Given the description of an element on the screen output the (x, y) to click on. 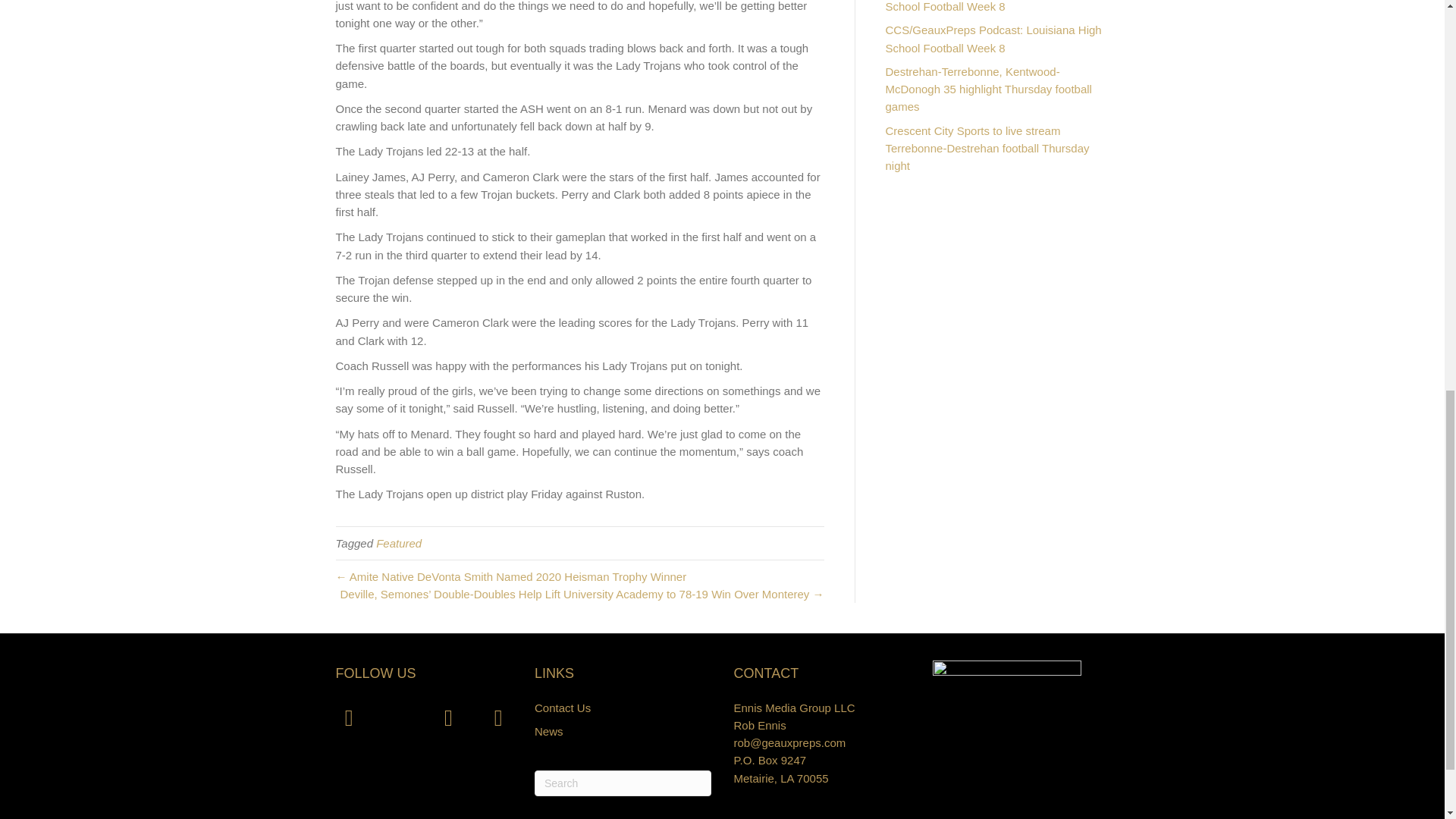
Contact Us (562, 707)
Featured (398, 543)
Type and press Enter to search. (622, 783)
News (548, 730)
